Given the description of an element on the screen output the (x, y) to click on. 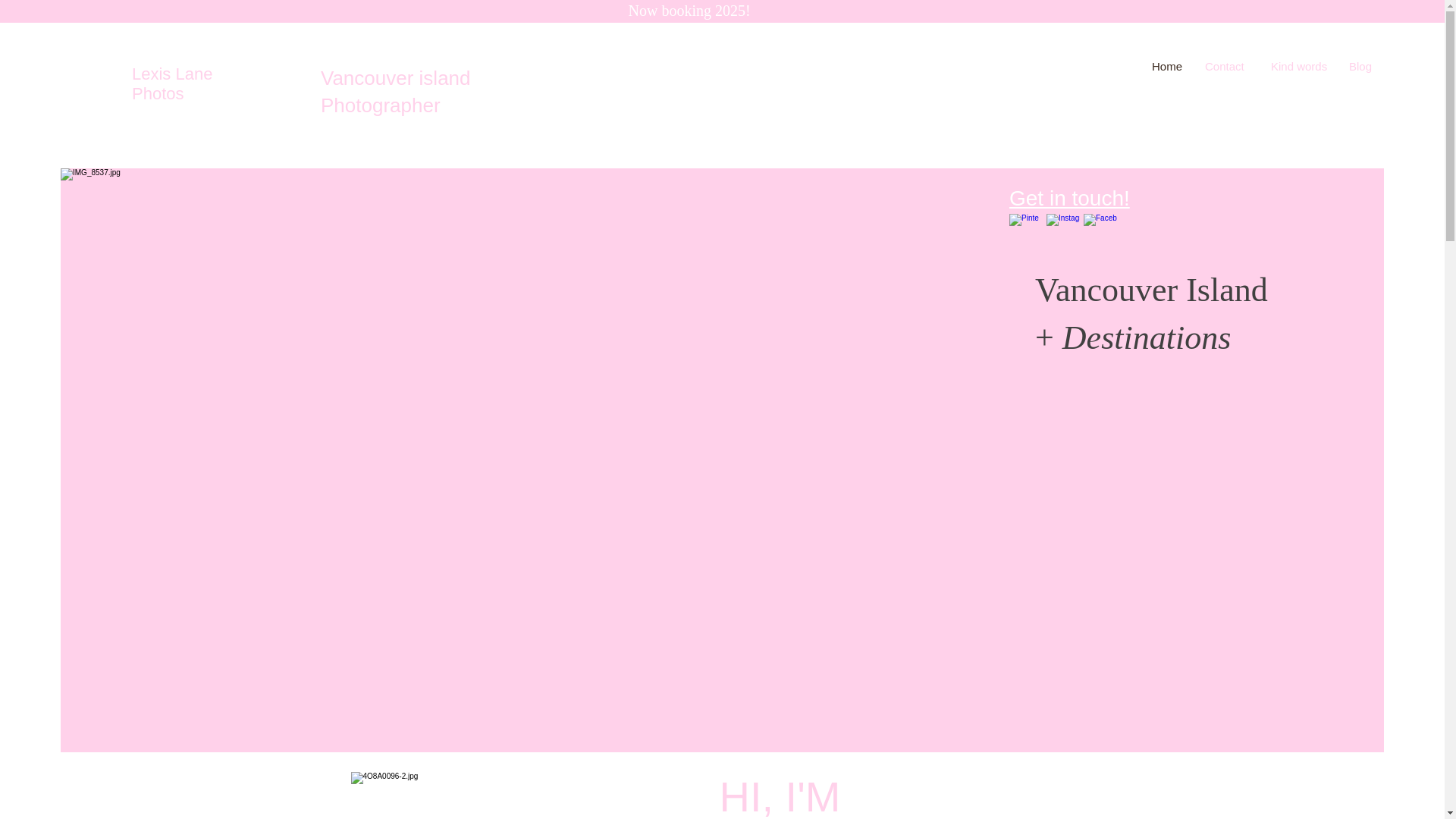
Contact (1226, 66)
Blog (1360, 66)
Lexis Lane Photos (172, 83)
Home (1166, 66)
Get in touch! (1069, 197)
Kind words (1298, 66)
